Given the description of an element on the screen output the (x, y) to click on. 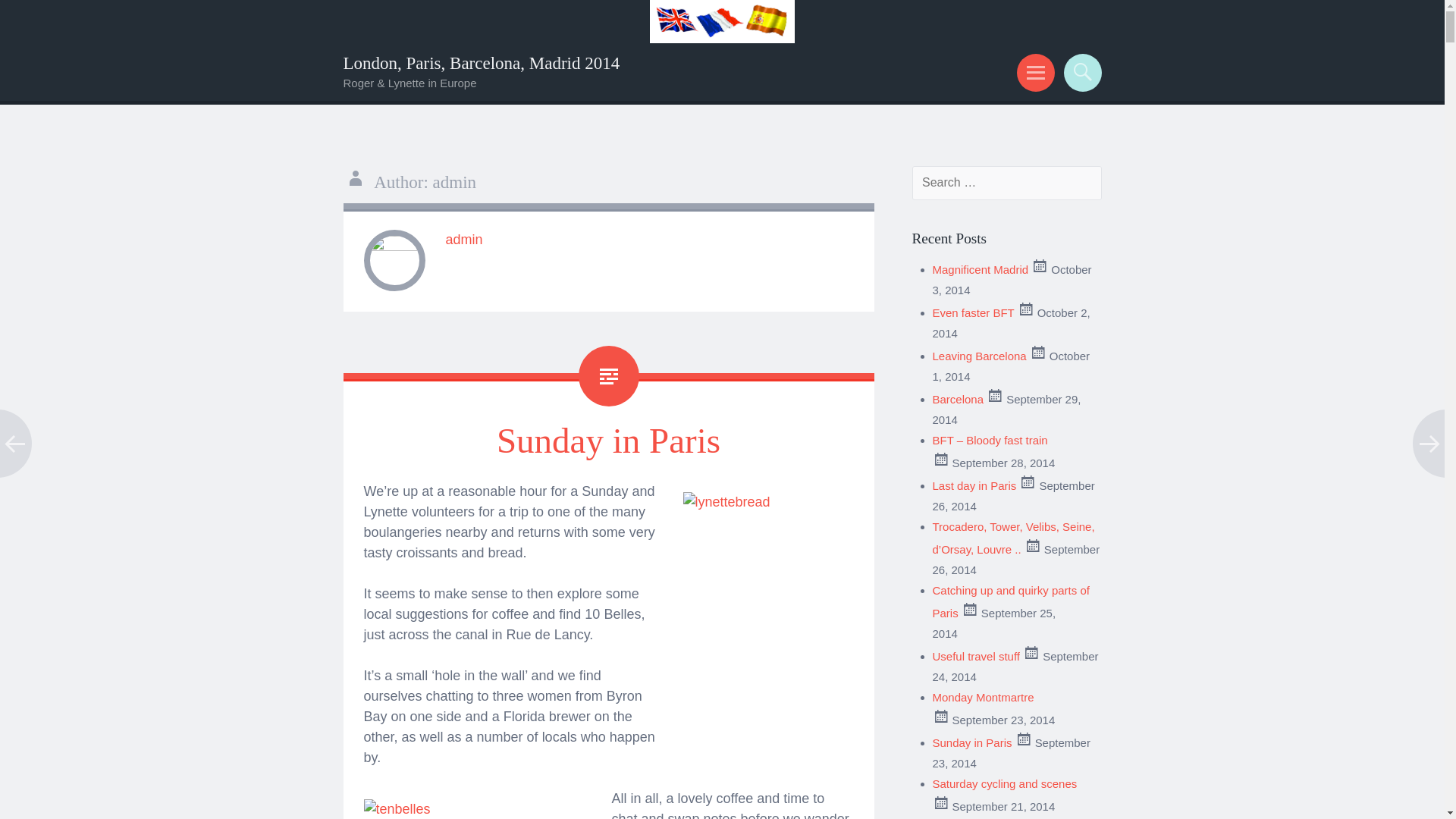
London, Paris, Barcelona, Madrid 2014 (481, 62)
admin (464, 239)
Search (1080, 71)
Menu (1032, 71)
Sunday in Paris (608, 440)
admin (464, 239)
